Given the description of an element on the screen output the (x, y) to click on. 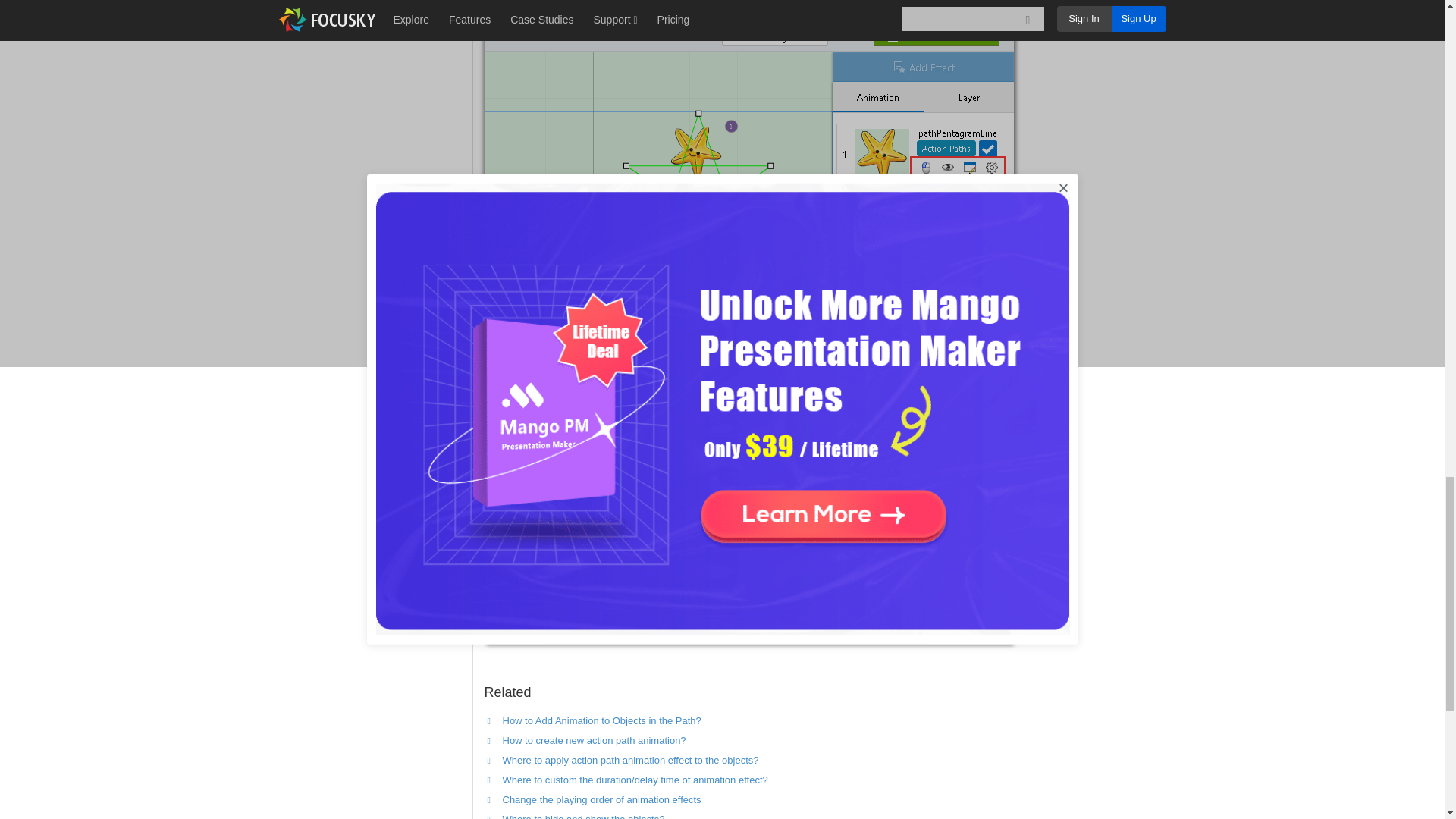
How to create new action path animation? (593, 740)
Where to apply action path animation effect to the objects? (630, 759)
How to Add Animation to Objects in the Path? (601, 720)
